Given the description of an element on the screen output the (x, y) to click on. 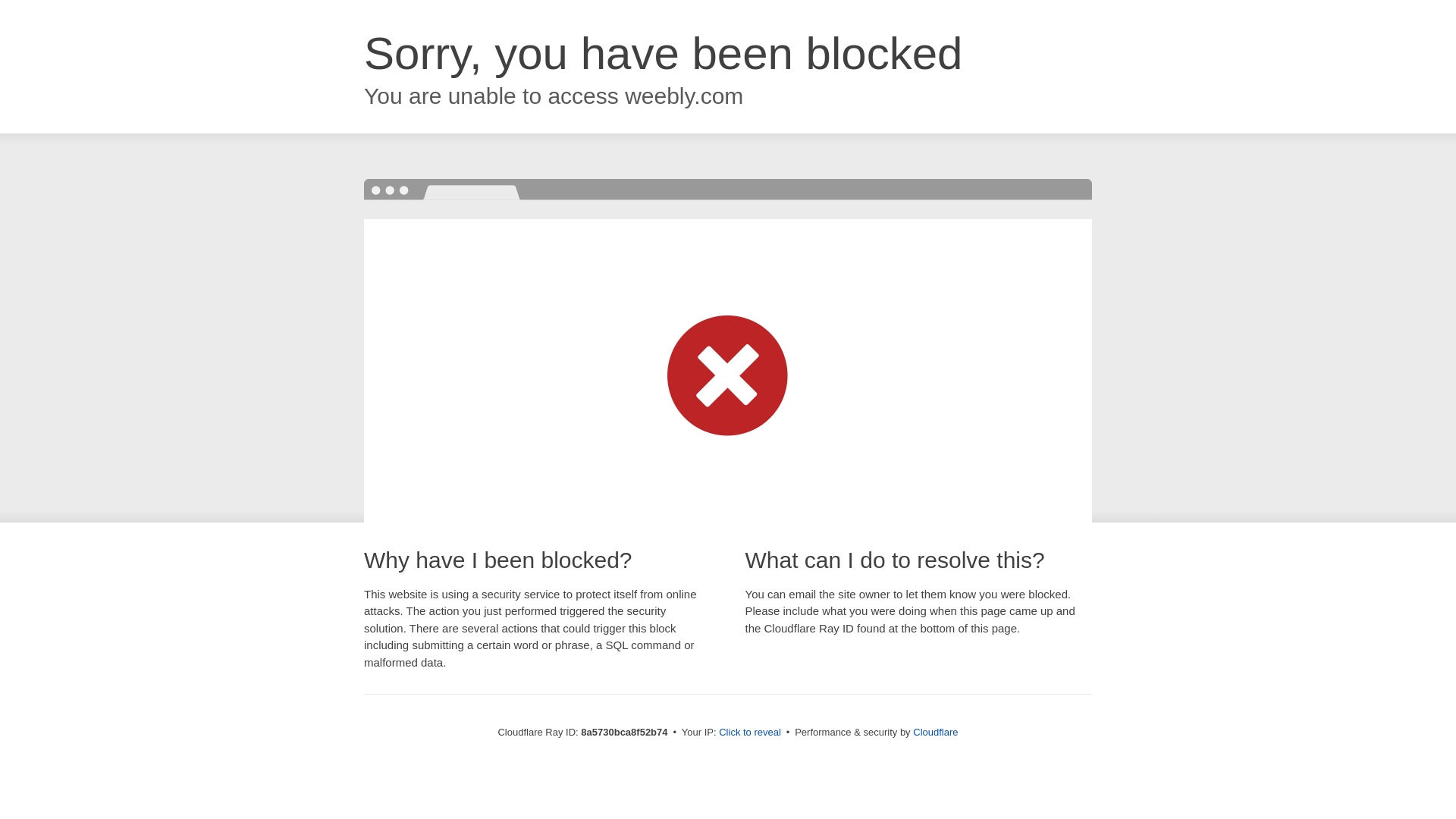
Click to reveal (749, 732)
Cloudflare (935, 731)
